Given the description of an element on the screen output the (x, y) to click on. 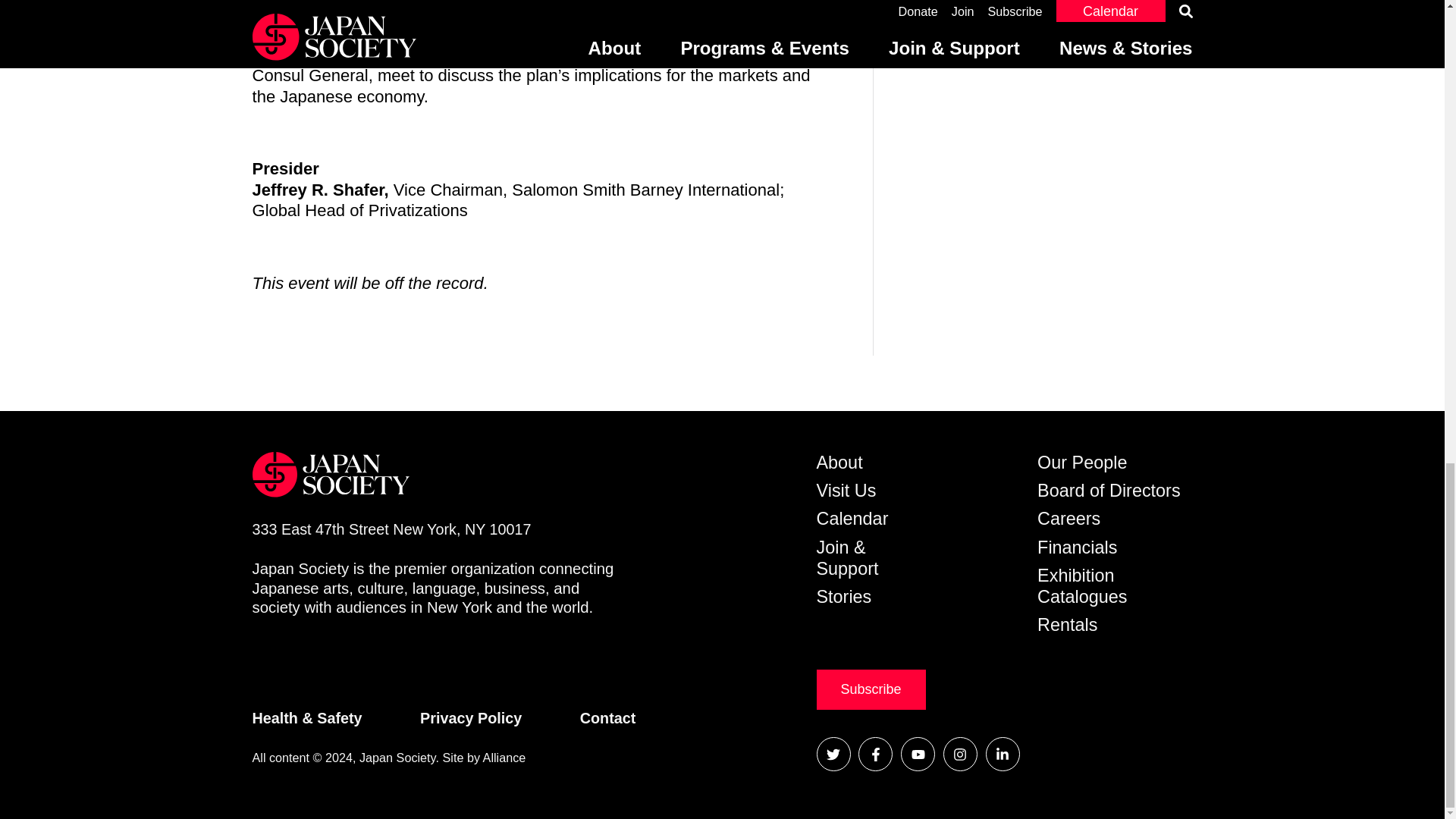
Get Direction (391, 528)
Alliance (483, 757)
